Given the description of an element on the screen output the (x, y) to click on. 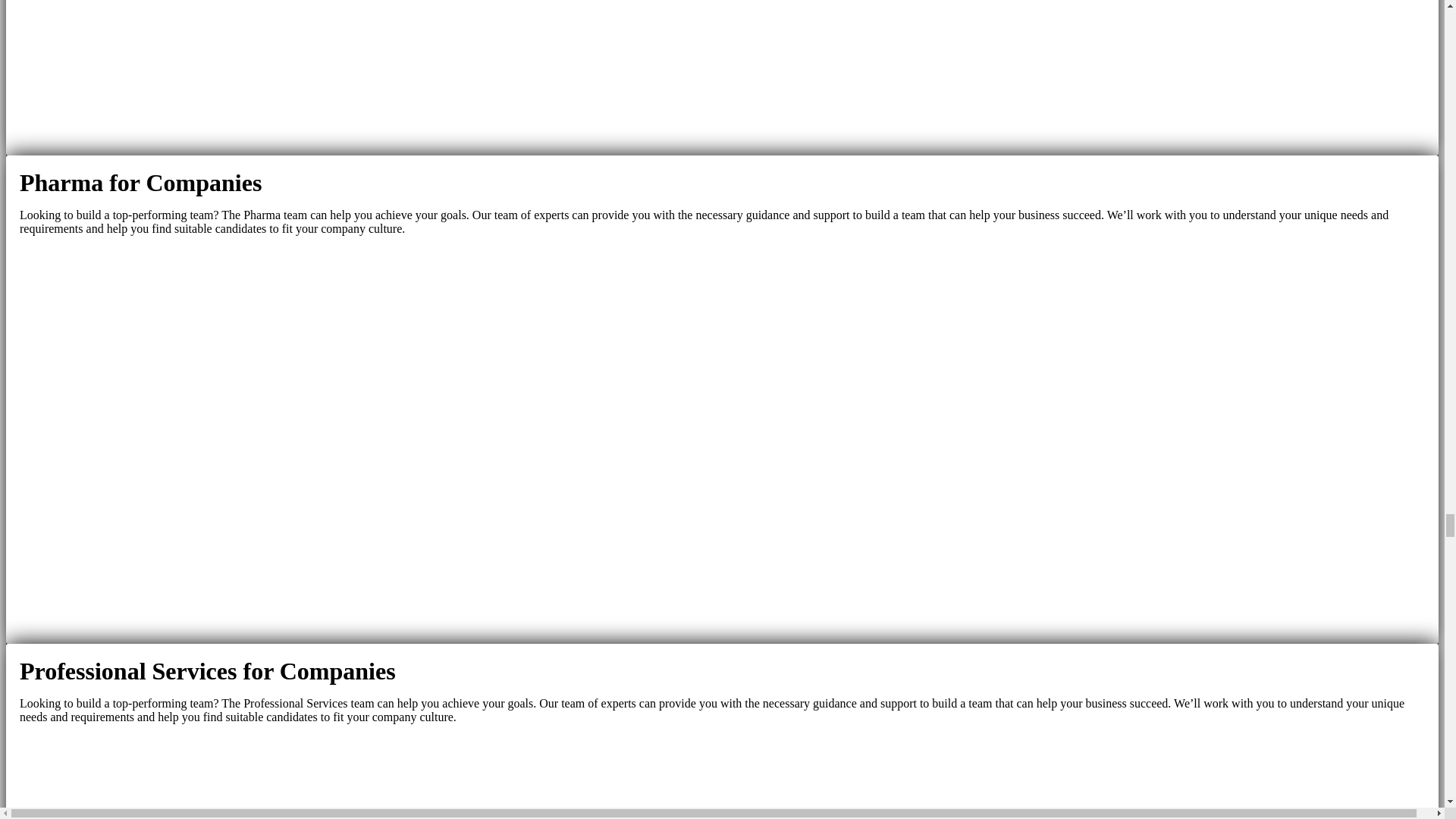
Contact Professional Services Team (722, 777)
